Given the description of an element on the screen output the (x, y) to click on. 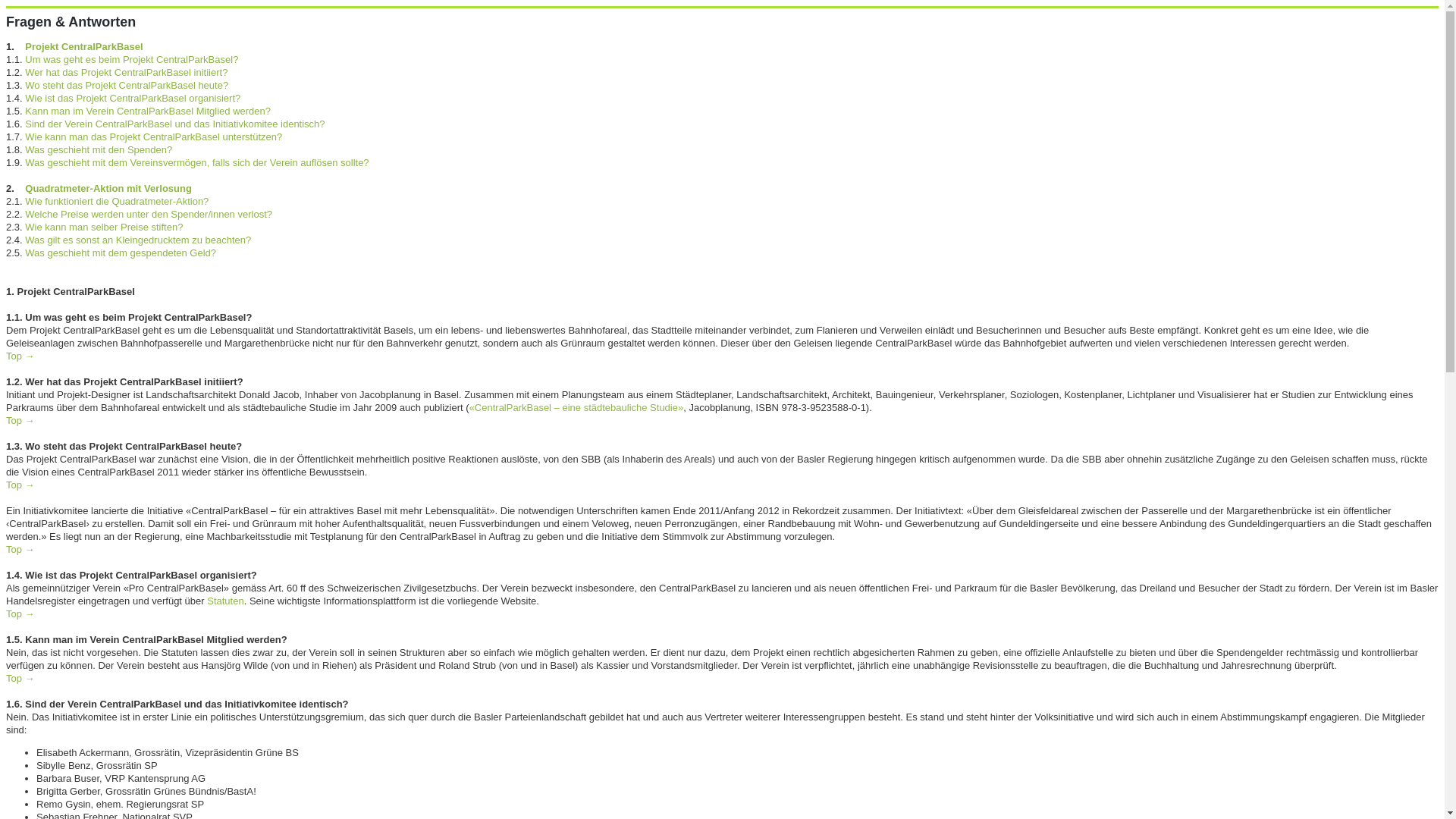
Projekt CentralParkBasel Element type: text (83, 46)
Um was geht es beim Projekt CentralParkBasel? Element type: text (131, 59)
Wer hat das Projekt CentralParkBasel initiiert? Element type: text (126, 72)
Quadratmeter-Aktion mit Verlosung Element type: text (108, 188)
Kann man im Verein CentralParkBasel Mitglied werden? Element type: text (147, 110)
Was geschieht mit dem gespendeten Geld? Element type: text (120, 252)
Wie kann man selber Preise stiften? Element type: text (103, 226)
Was gilt es sonst an Kleingedrucktem zu beachten? Element type: text (138, 239)
Wie funktioniert die Quadratmeter-Aktion? Element type: text (116, 201)
Statuten Element type: text (225, 600)
Wie ist das Projekt CentralParkBasel organisiert? Element type: text (132, 97)
Wo steht das Projekt CentralParkBasel heute? Element type: text (126, 85)
Welche Preise werden unter den Spender/innen verlost? Element type: text (148, 213)
Was geschieht mit den Spenden? Element type: text (98, 149)
